Given the description of an element on the screen output the (x, y) to click on. 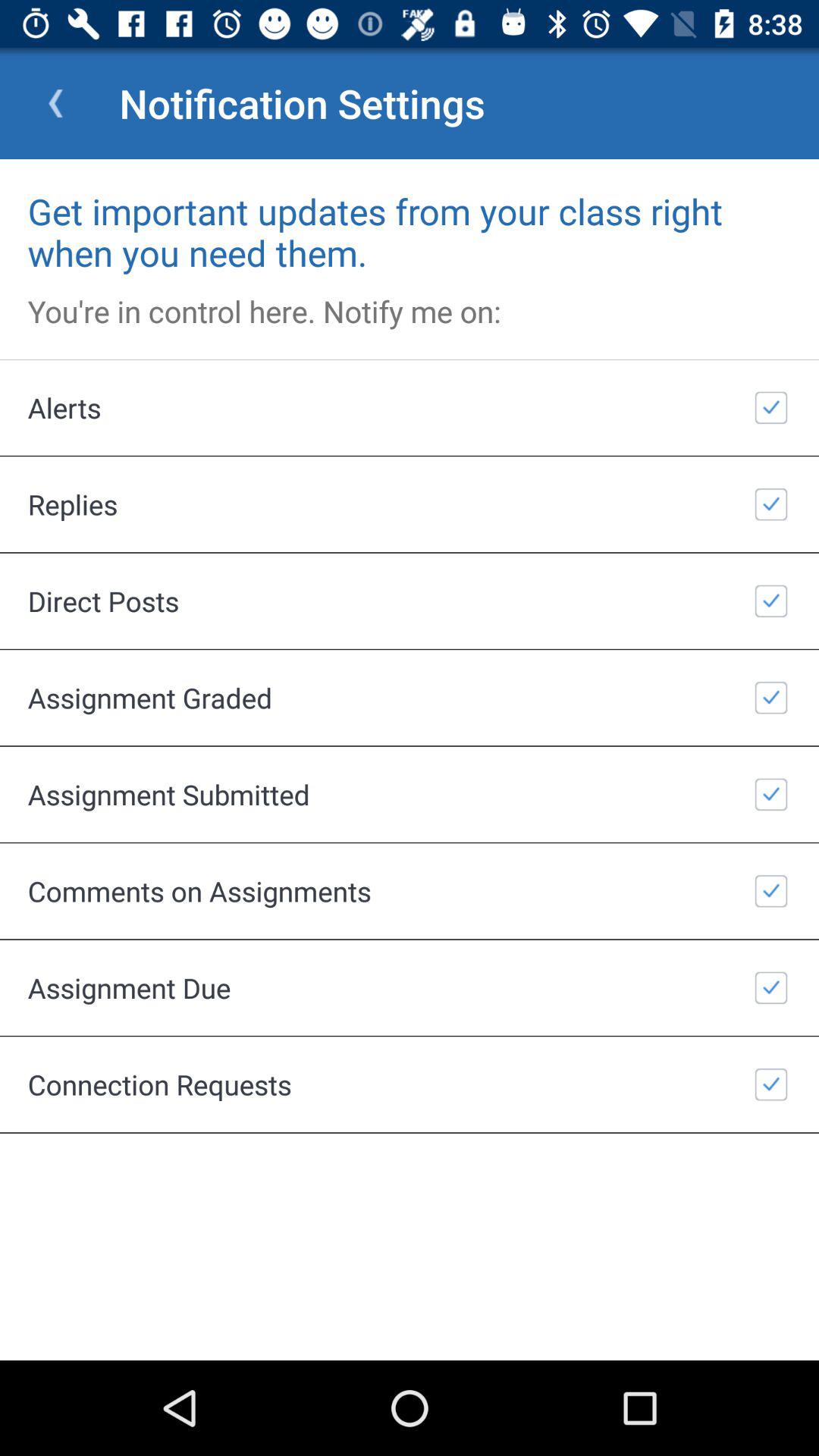
flip until the assignment graded icon (409, 697)
